Given the description of an element on the screen output the (x, y) to click on. 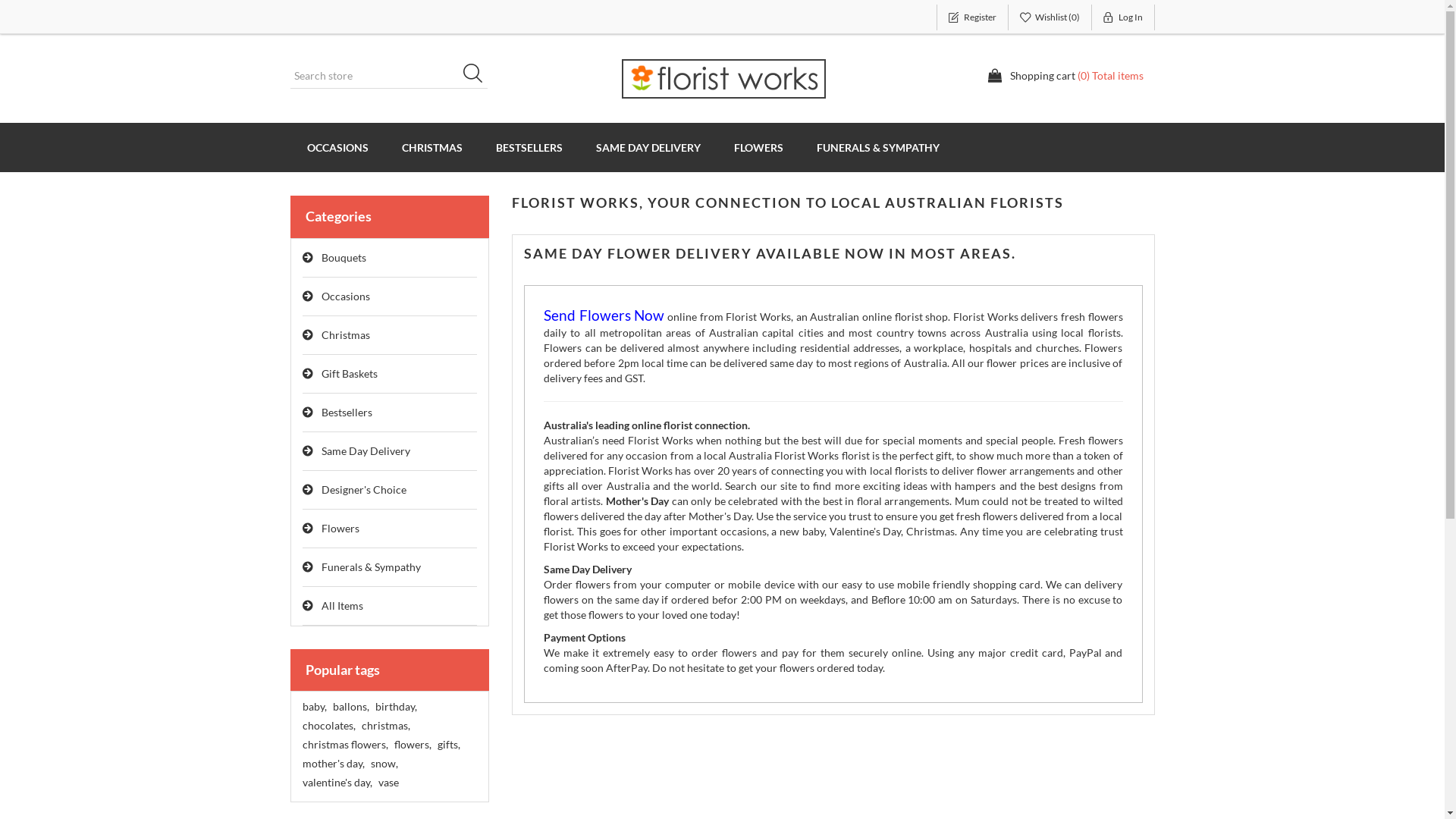
Log In Element type: text (1123, 17)
vase Element type: text (387, 782)
Flowers Element type: text (388, 528)
Christmas Element type: text (388, 335)
christmas, Element type: text (384, 725)
Bouquets Element type: text (388, 257)
Shopping cart (0) Total items Element type: text (1065, 75)
OCCASIONS Element type: text (336, 147)
gifts, Element type: text (447, 744)
All Items Element type: text (388, 605)
snow, Element type: text (383, 763)
CHRISTMAS Element type: text (432, 147)
Funerals & Sympathy Element type: text (388, 567)
Register Element type: text (971, 17)
ballons, Element type: text (350, 706)
mother's day, Element type: text (332, 763)
Send Flowers Now Element type: text (603, 316)
Occasions Element type: text (388, 296)
christmas flowers, Element type: text (344, 744)
FLOWERS Element type: text (758, 147)
valentine's day, Element type: text (336, 782)
Bestsellers Element type: text (388, 412)
Gift Baskets Element type: text (388, 373)
flowers, Element type: text (412, 744)
chocolates, Element type: text (327, 725)
Wishlist (0) Element type: text (1050, 17)
baby, Element type: text (313, 706)
BESTSELLERS Element type: text (529, 147)
birthday, Element type: text (395, 706)
Same Day Delivery Element type: text (388, 451)
FUNERALS & SYMPATHY Element type: text (877, 147)
SAME DAY DELIVERY Element type: text (648, 147)
Designer's Choice Element type: text (388, 489)
